Given the description of an element on the screen output the (x, y) to click on. 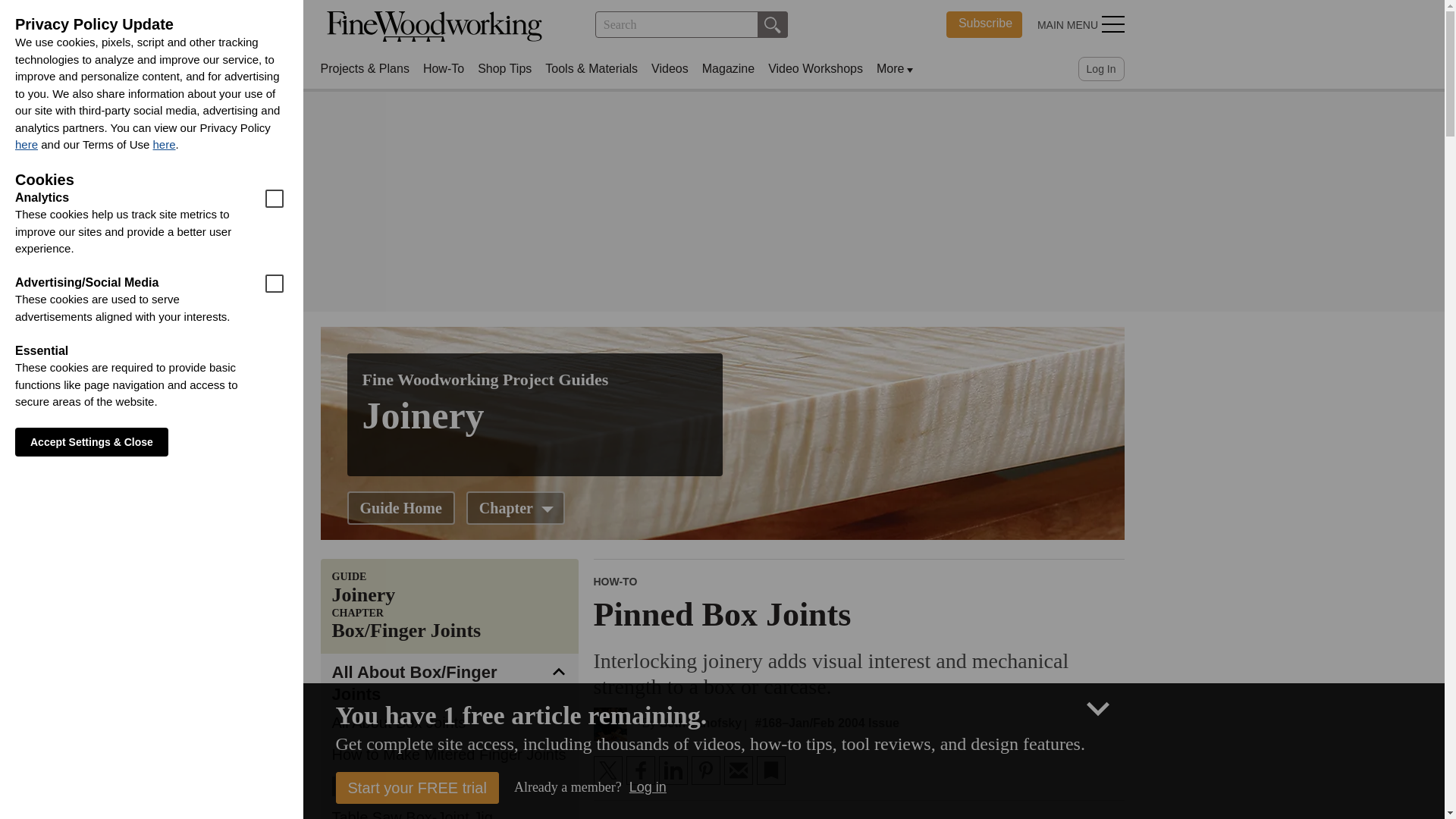
Log In (1101, 68)
Guide Home (400, 507)
Magazine (727, 68)
More (890, 68)
3rd party ad content (721, 201)
Videos (669, 68)
Video Workshops (815, 68)
Fine Woodworking Logo (433, 26)
Chapter (433, 26)
Subscribe (514, 507)
How-To (984, 24)
Shop Tips (443, 68)
